Given the description of an element on the screen output the (x, y) to click on. 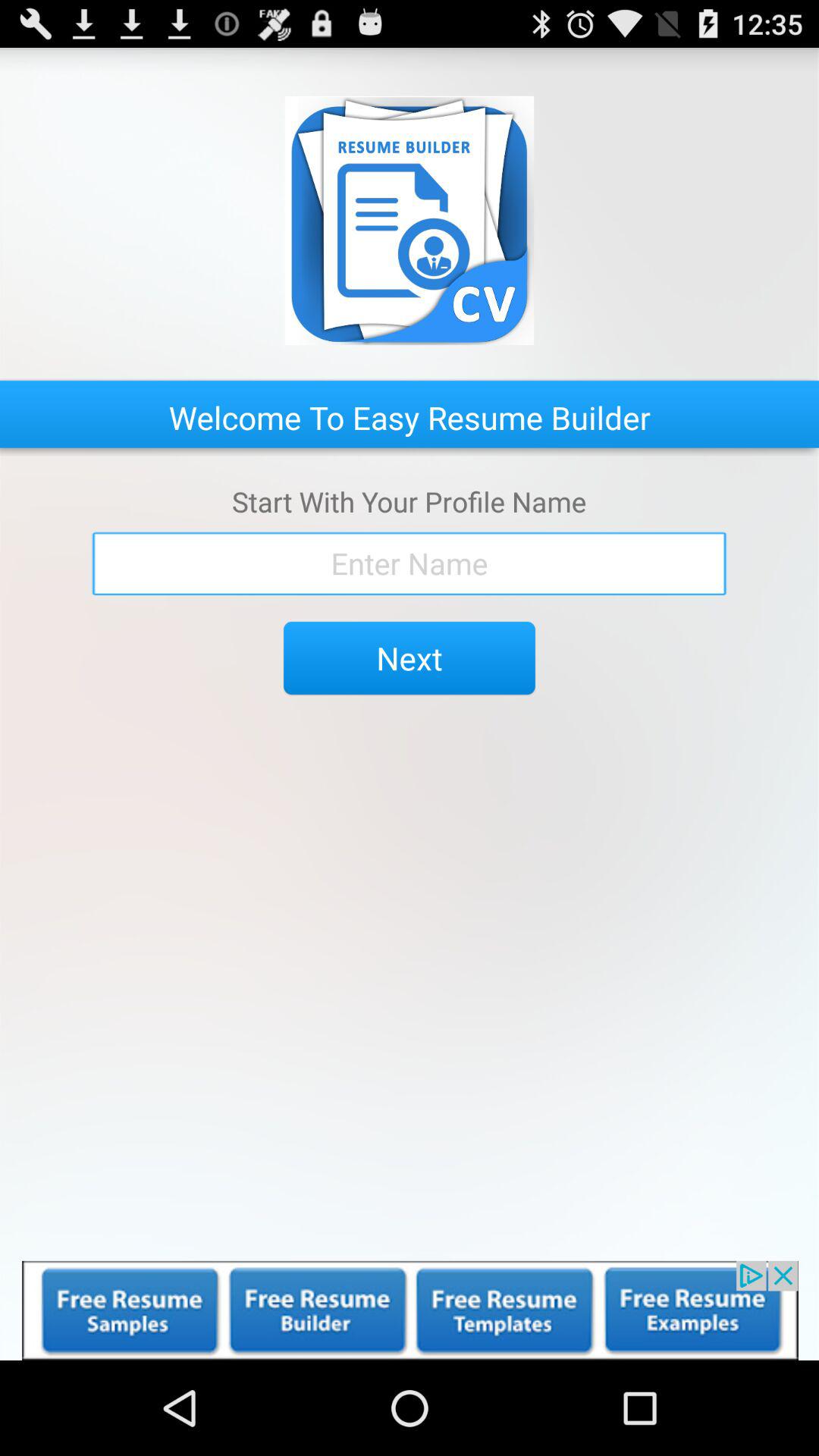
advertisement (409, 1310)
